Given the description of an element on the screen output the (x, y) to click on. 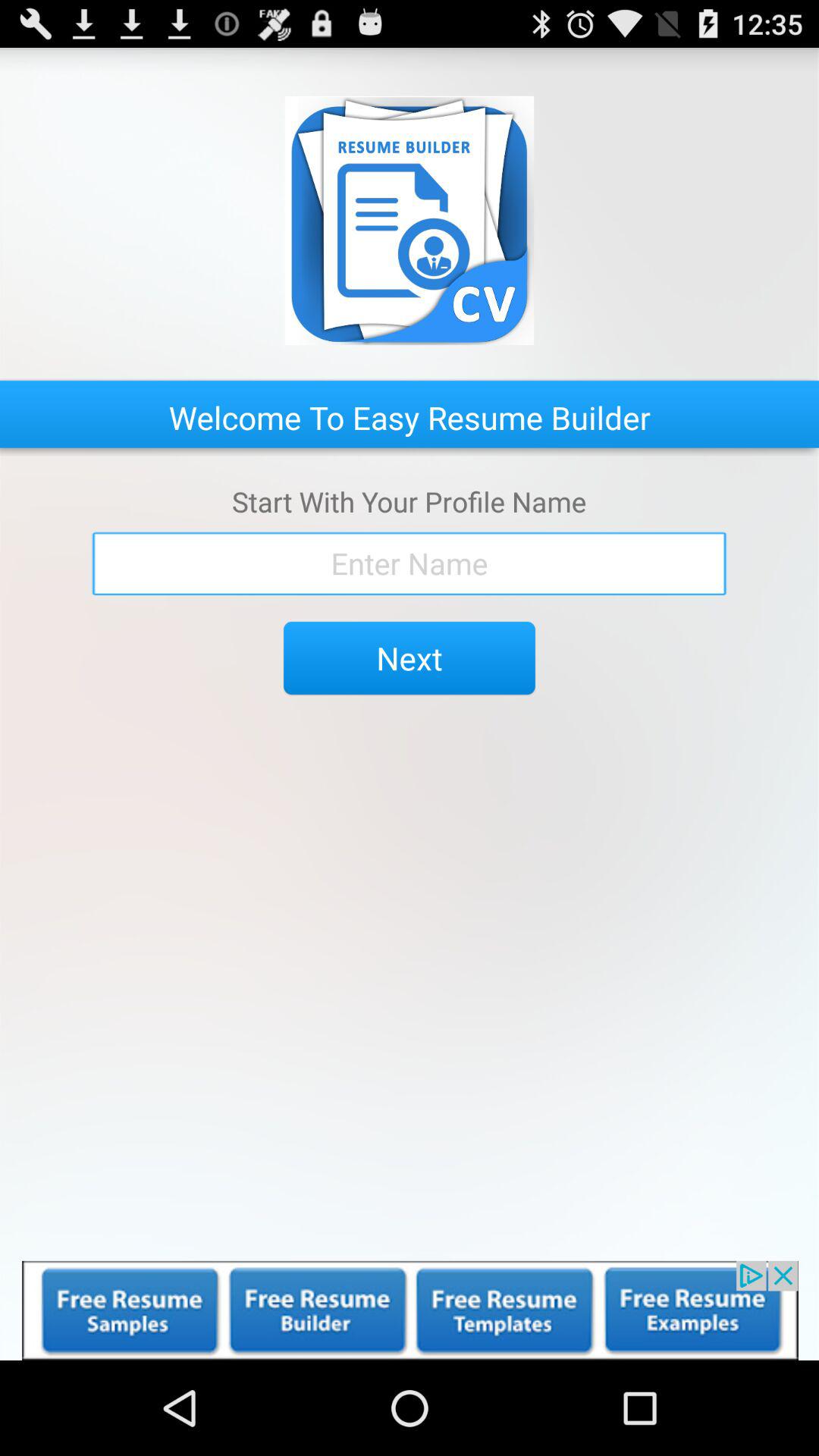
advertisement (409, 1310)
